Given the description of an element on the screen output the (x, y) to click on. 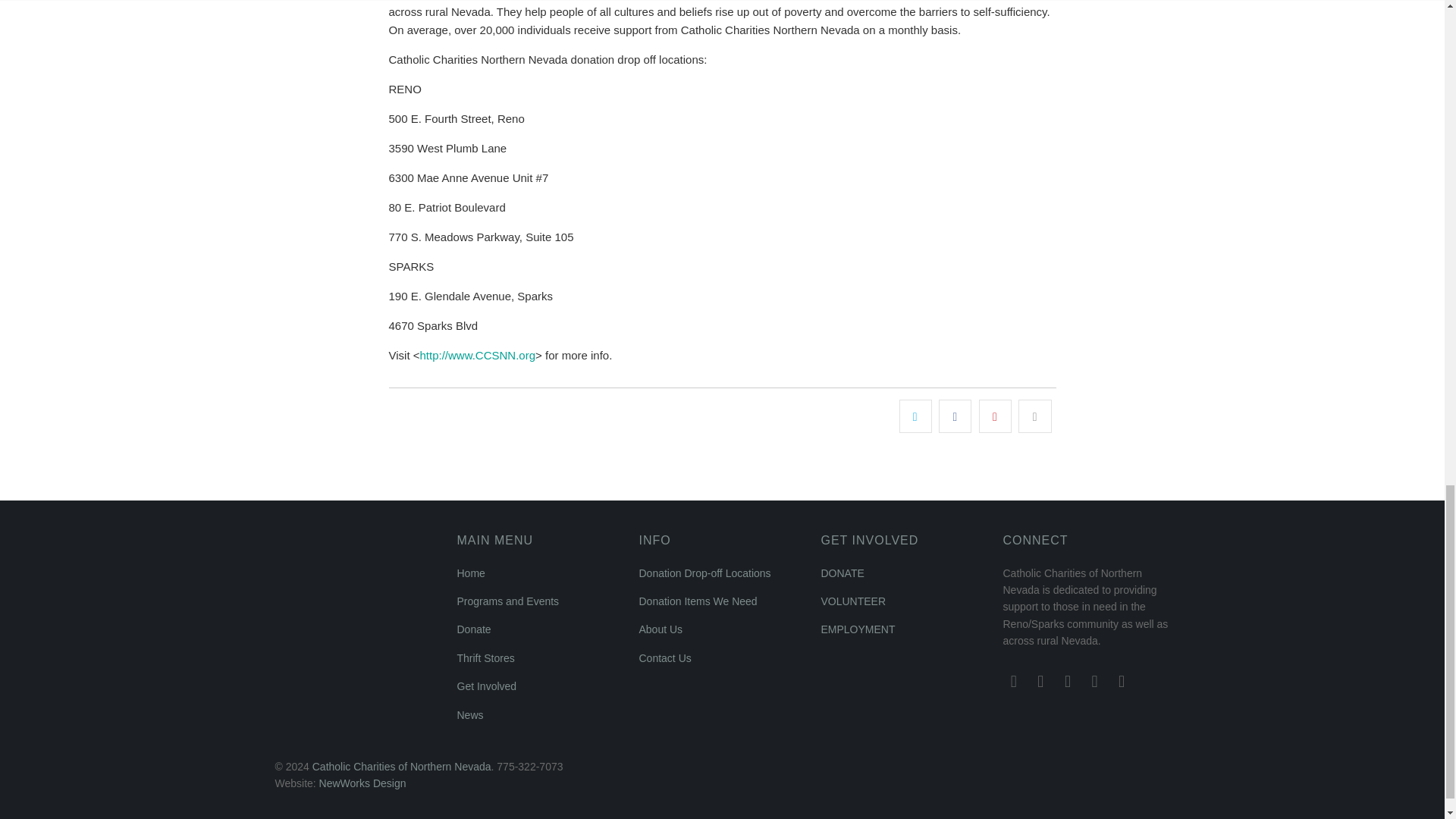
Share this on Facebook (955, 416)
Share this on Twitter (915, 416)
Email this to a friend (1034, 416)
Share this on Pinterest (994, 416)
